Given the description of an element on the screen output the (x, y) to click on. 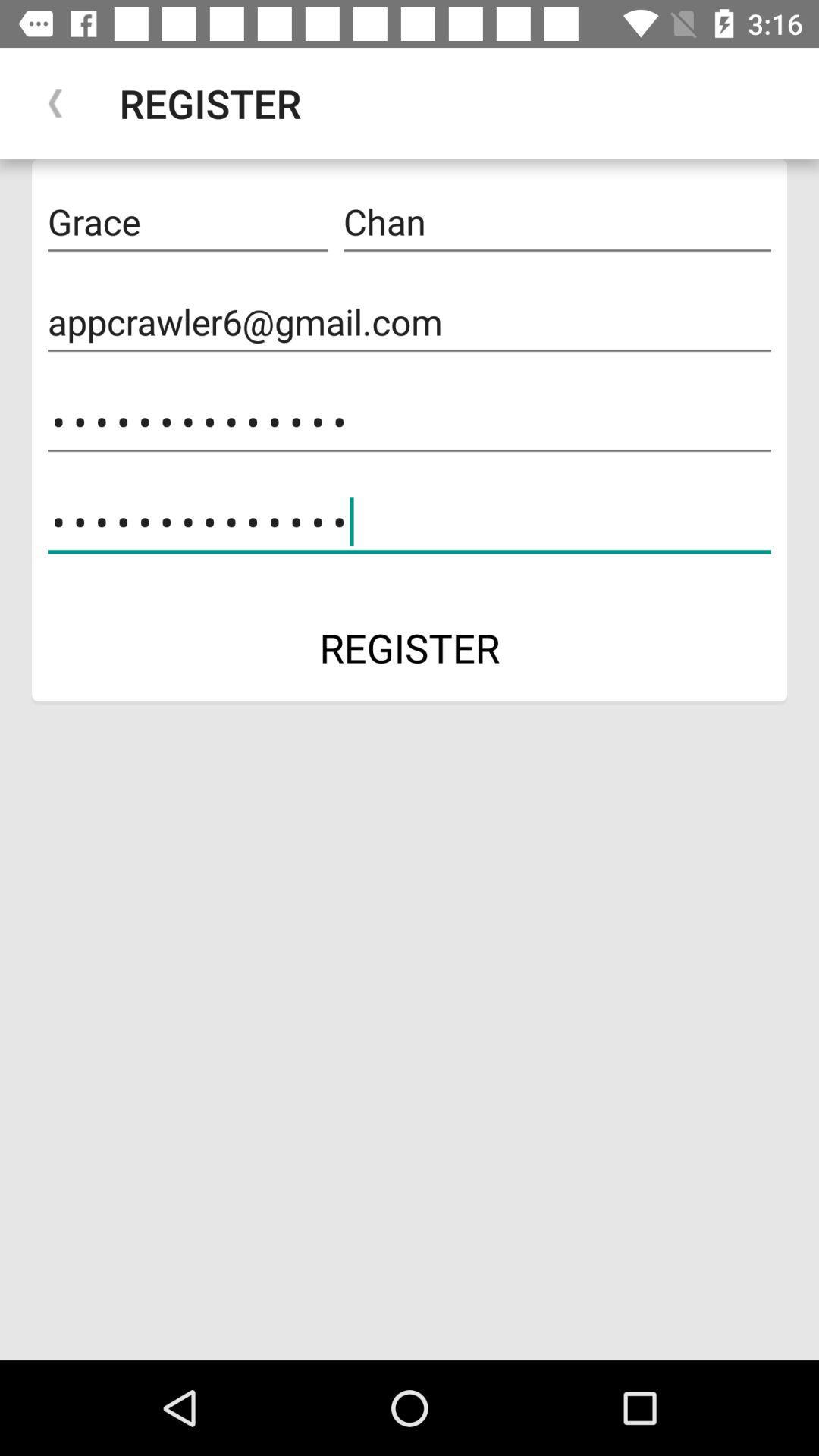
flip until the chan icon (557, 222)
